Given the description of an element on the screen output the (x, y) to click on. 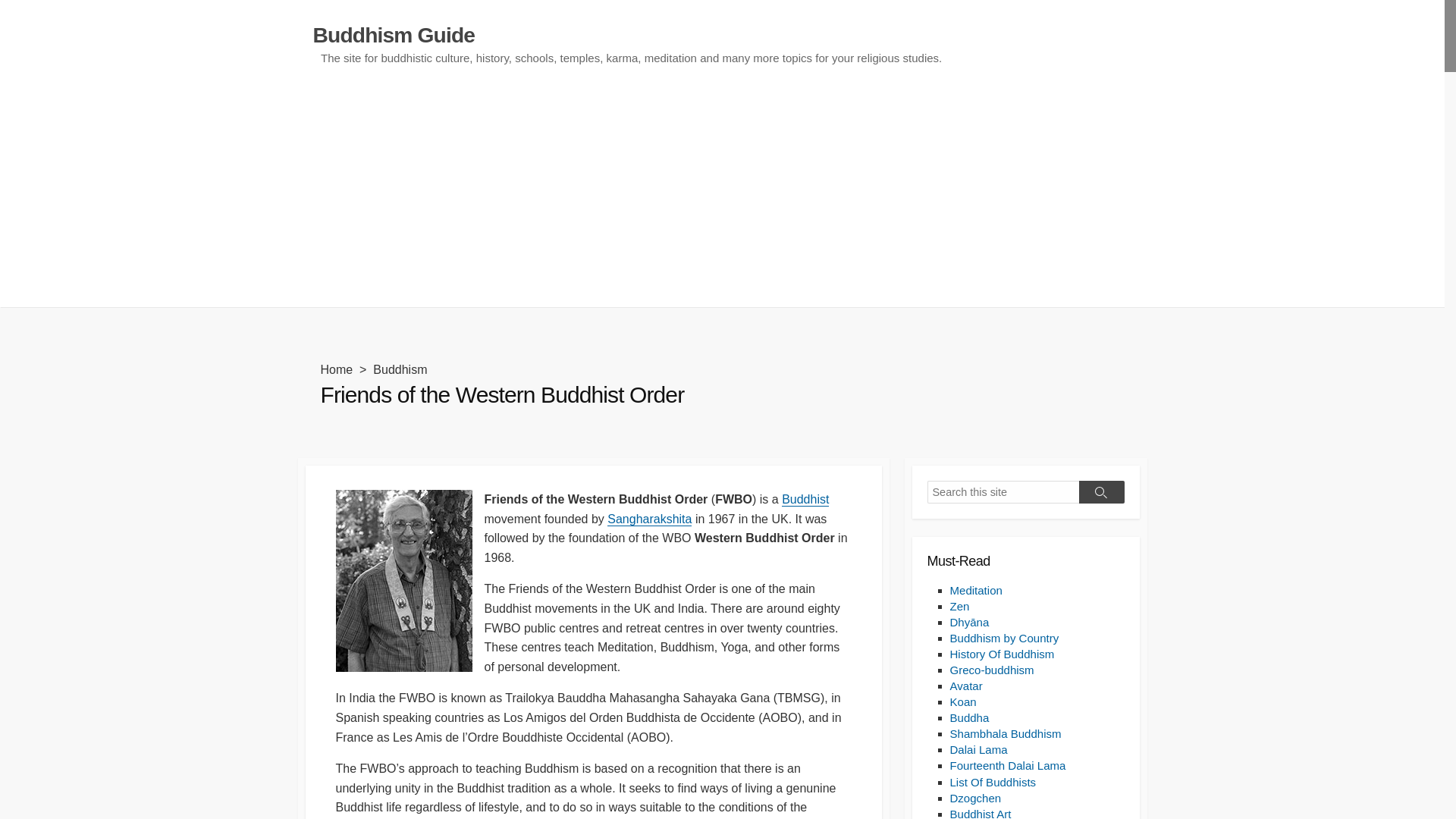
Sangharakshita (649, 518)
Buddhism (804, 499)
Buddhism Guide (393, 35)
Buddhist (804, 499)
Home (336, 369)
Buddhism Guide: Details about Buddhism (393, 35)
Buddhism (399, 369)
Sangharakshita (649, 518)
